Given the description of an element on the screen output the (x, y) to click on. 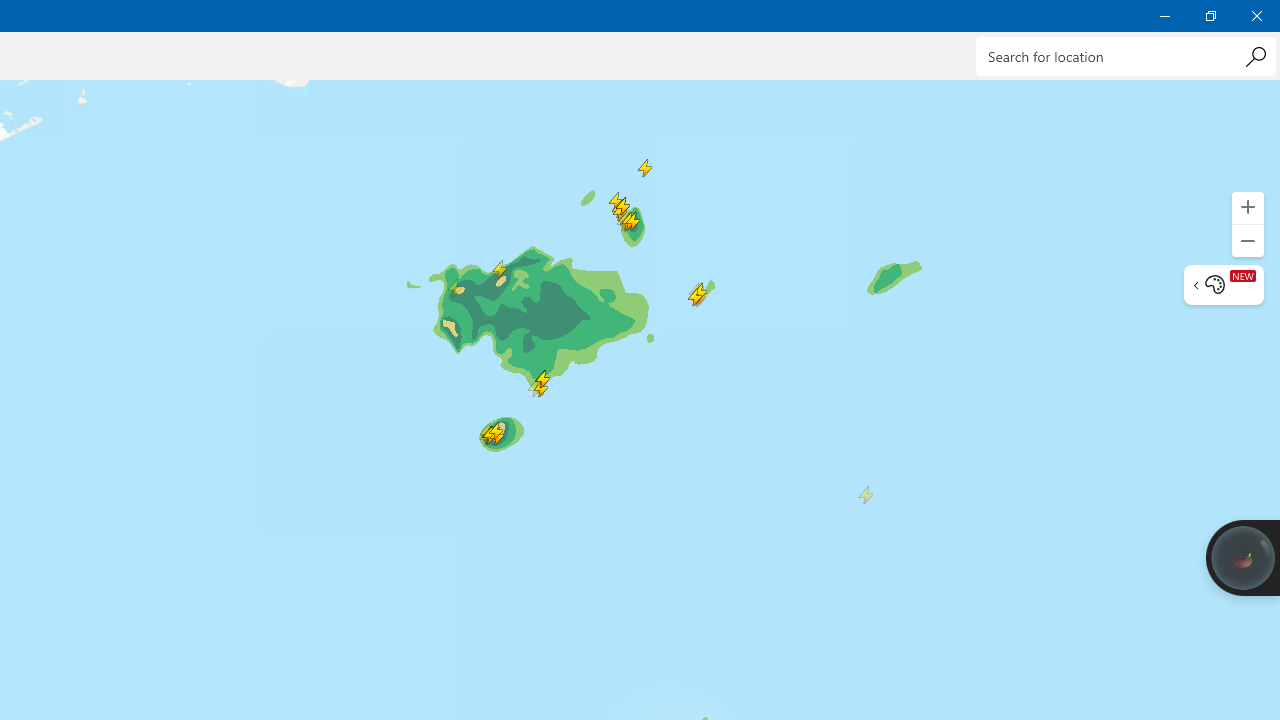
Search (1255, 56)
Restore Weather (1210, 15)
Close Weather (1256, 15)
Minimize Weather (1164, 15)
Search for location (1125, 56)
